Given the description of an element on the screen output the (x, y) to click on. 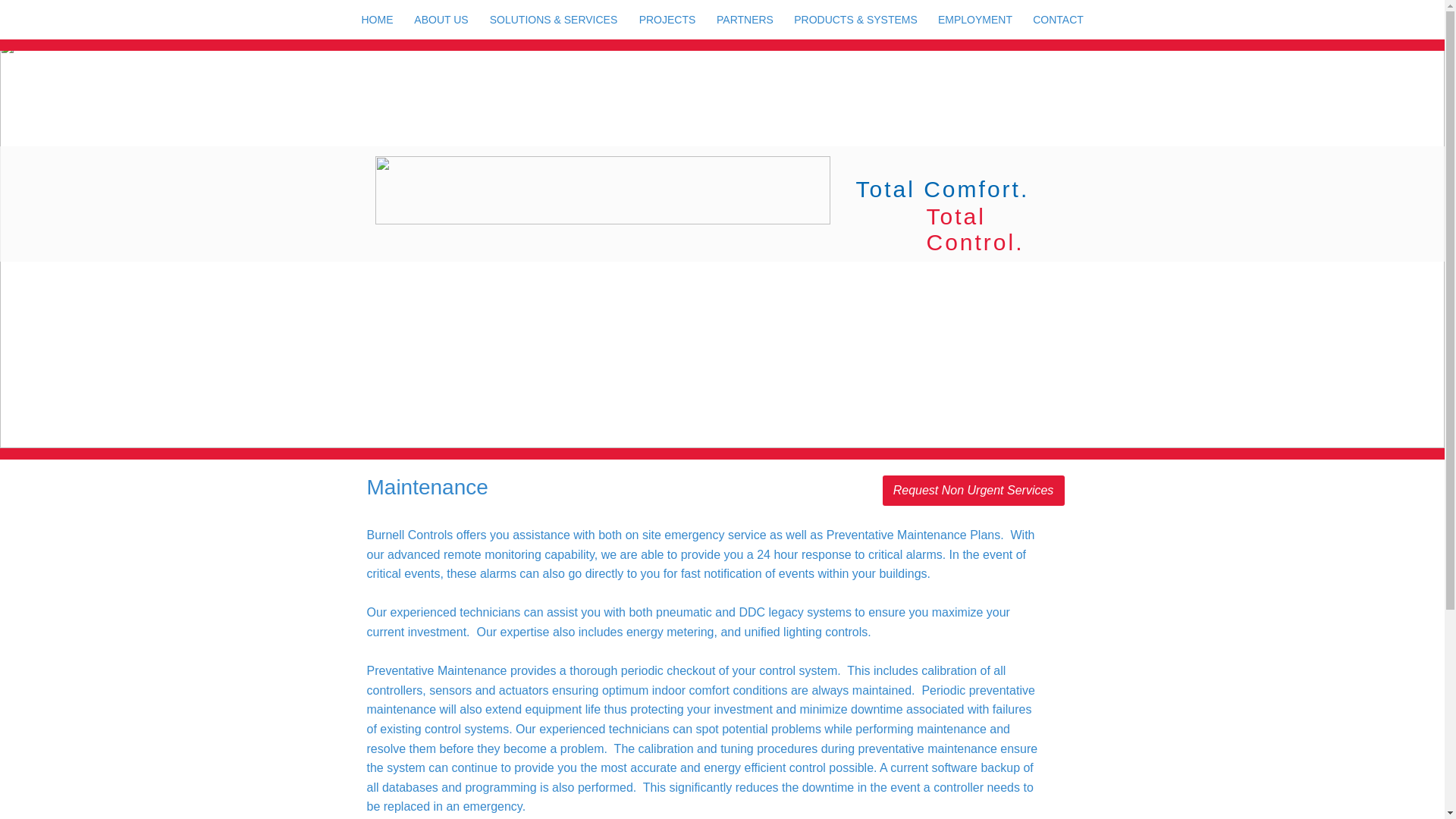
PROJECTS (666, 19)
PARTNERS (745, 19)
HOME (376, 19)
EMPLOYMENT (975, 19)
Request Non Urgent Services (973, 490)
